Given the description of an element on the screen output the (x, y) to click on. 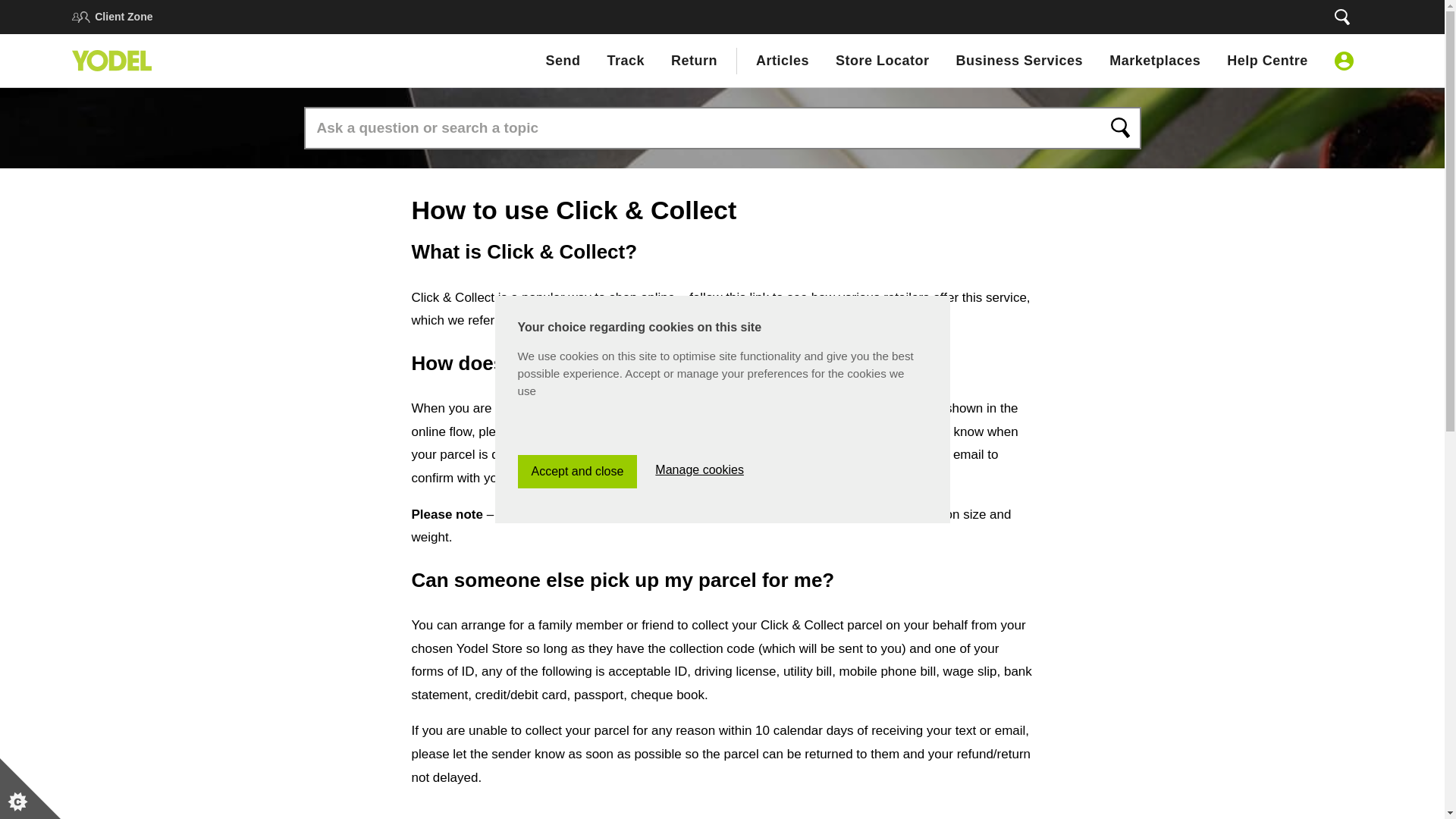
Store Locator (882, 59)
Accept and close (576, 777)
Return (694, 59)
Articles (782, 59)
Send (561, 59)
Client Zone (123, 17)
Manage cookies (699, 765)
Track (626, 59)
